Given the description of an element on the screen output the (x, y) to click on. 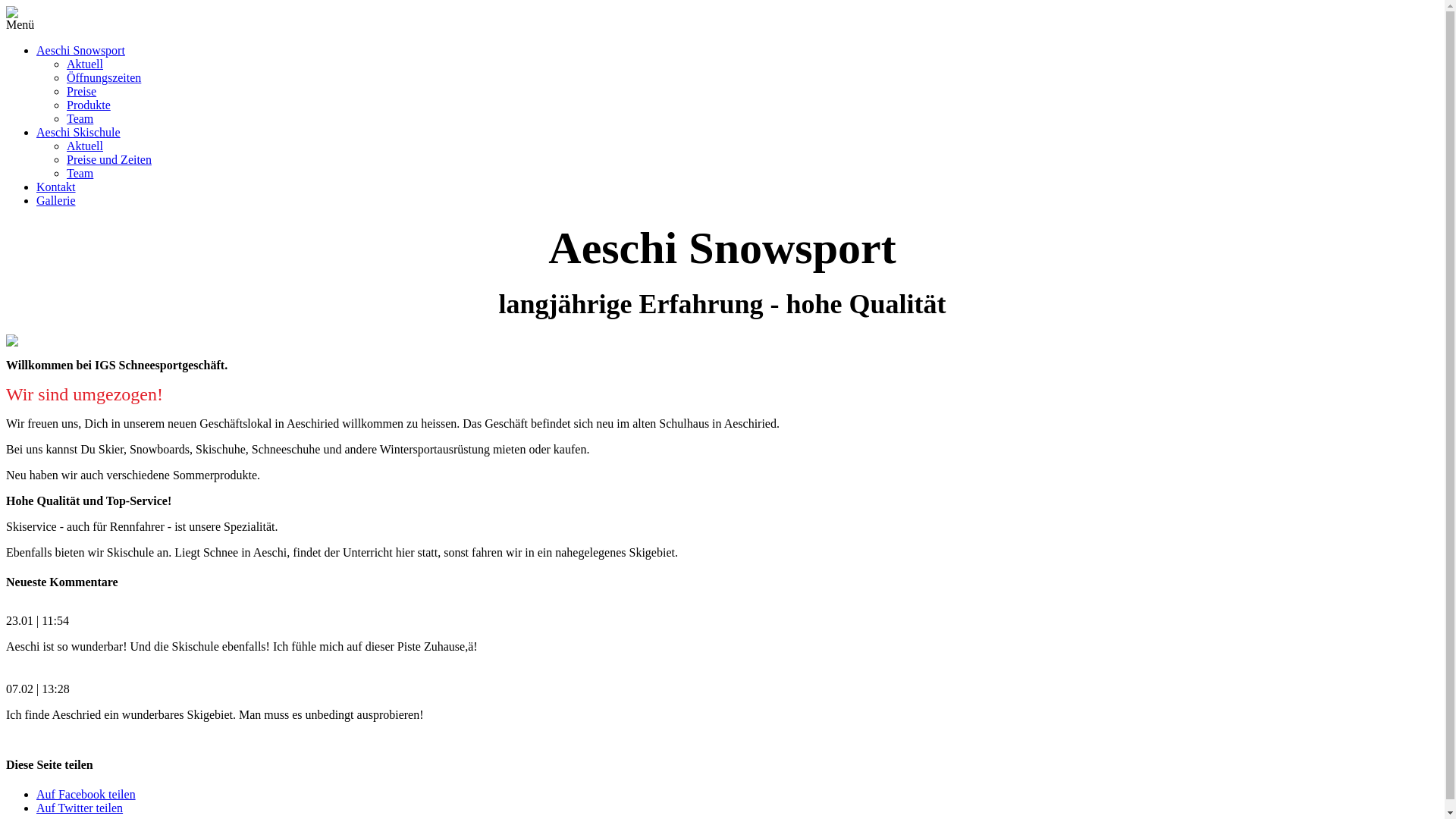
Gallerie Element type: text (55, 200)
Auf Facebook teilen Element type: text (85, 793)
Produkte Element type: text (88, 104)
Aktuell Element type: text (84, 63)
Aeschi Snowsport Element type: text (80, 49)
Team Element type: text (79, 118)
Team Element type: text (79, 172)
Preise Element type: text (81, 90)
Aeschi Skischule Element type: text (78, 131)
Kontakt Element type: text (55, 186)
Auf Twitter teilen Element type: text (79, 807)
Aktuell Element type: text (84, 145)
Preise und Zeiten Element type: text (108, 159)
